Given the description of an element on the screen output the (x, y) to click on. 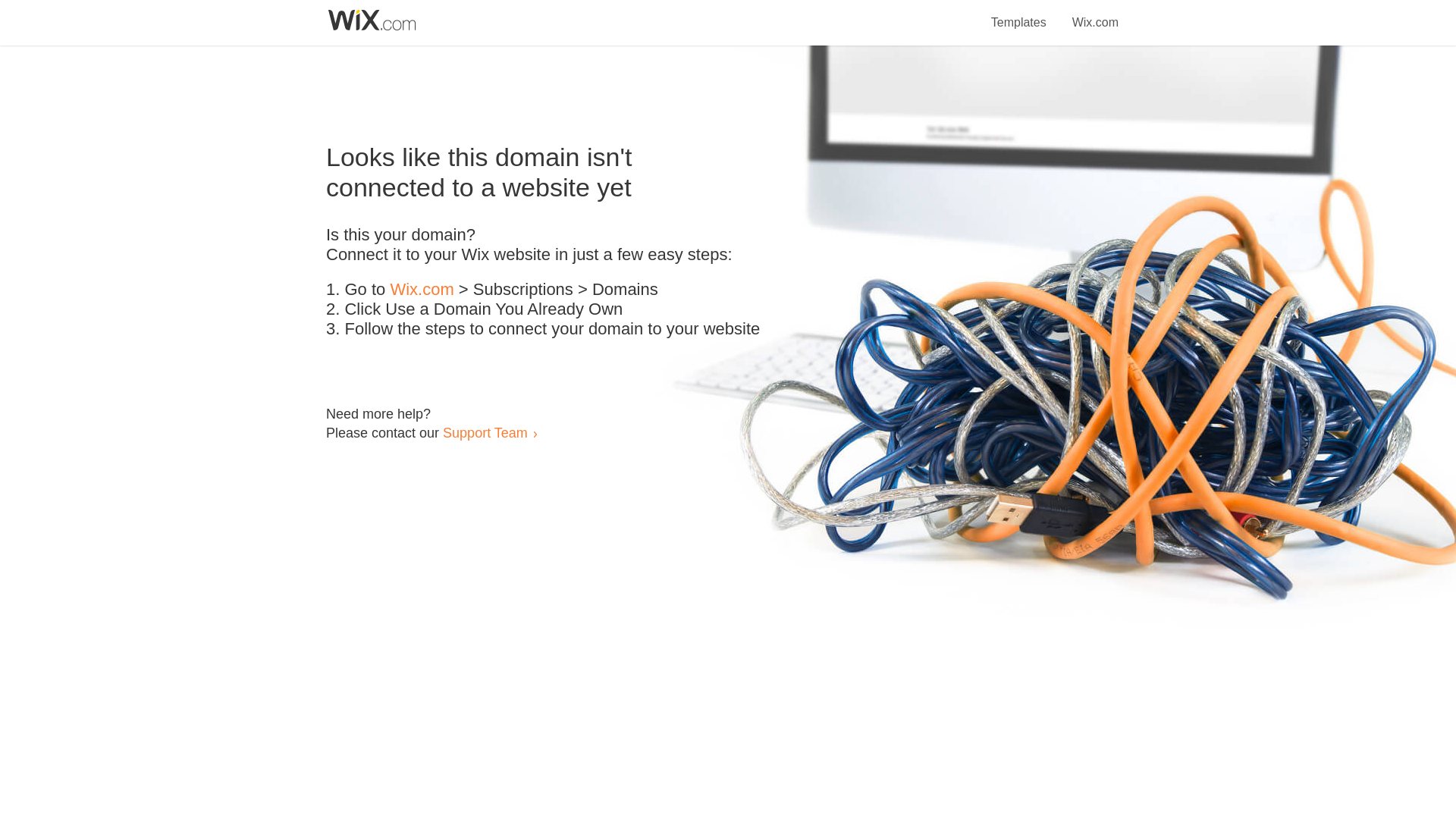
Support Team (484, 432)
Wix.com (1095, 14)
Wix.com (421, 289)
Templates (1018, 14)
